Given the description of an element on the screen output the (x, y) to click on. 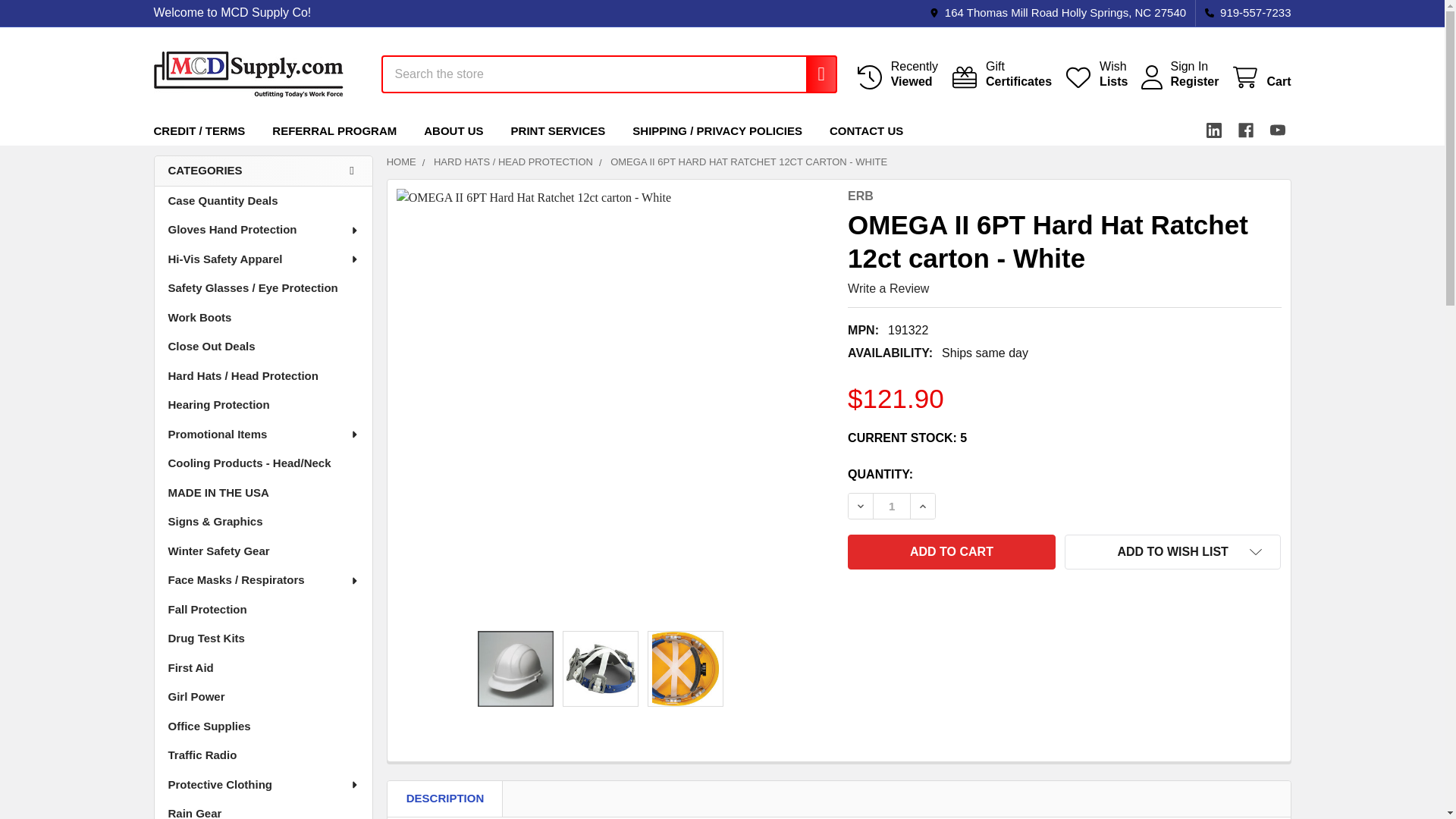
1 (891, 505)
Gift Certificates (896, 73)
Facebook (1000, 73)
Register (1245, 130)
Sign In (1194, 81)
Cart (1189, 66)
Search (1260, 77)
Recently Viewed (813, 74)
Linkedin (896, 73)
